Given the description of an element on the screen output the (x, y) to click on. 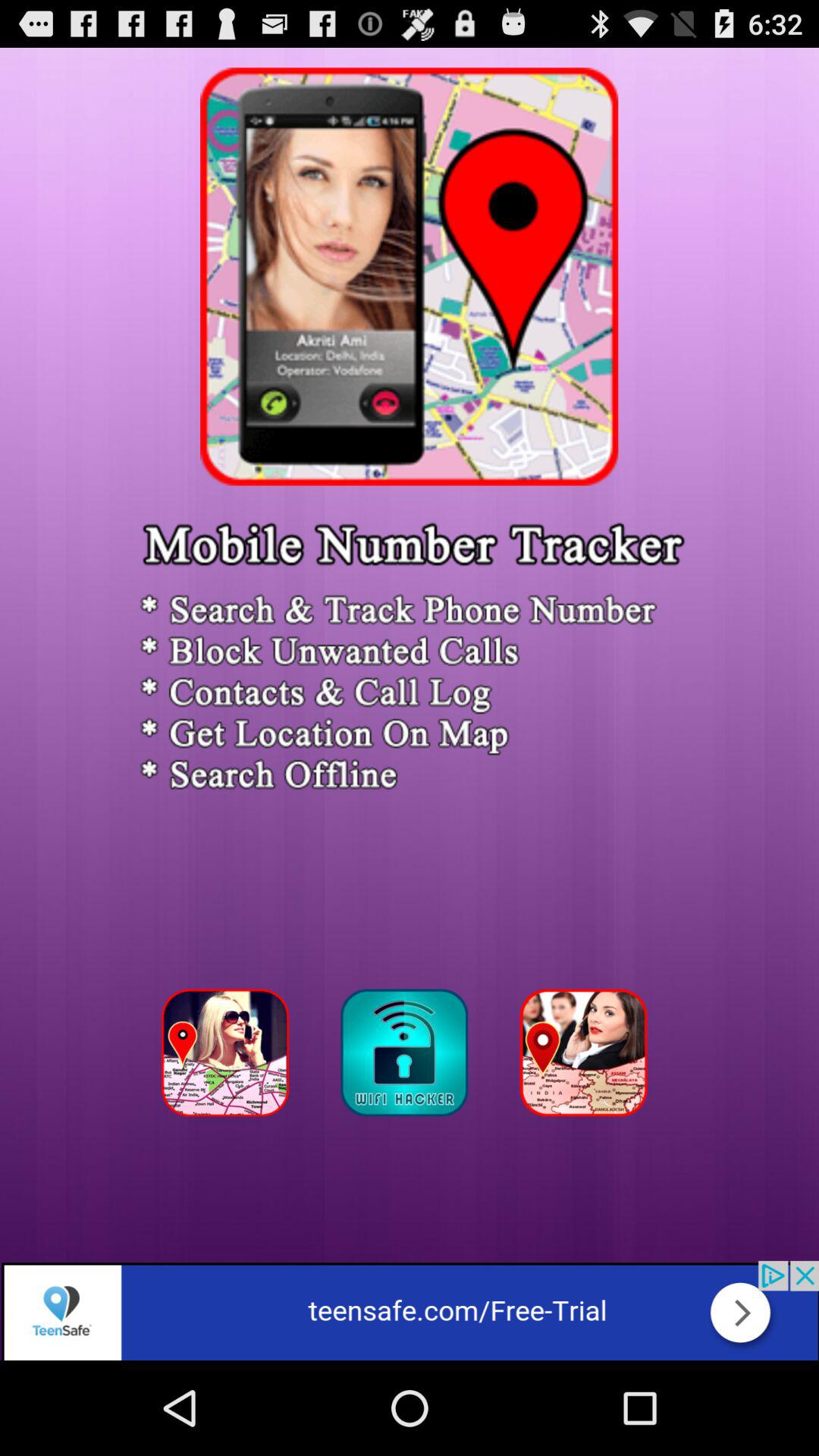
game page (588, 1057)
